Given the description of an element on the screen output the (x, y) to click on. 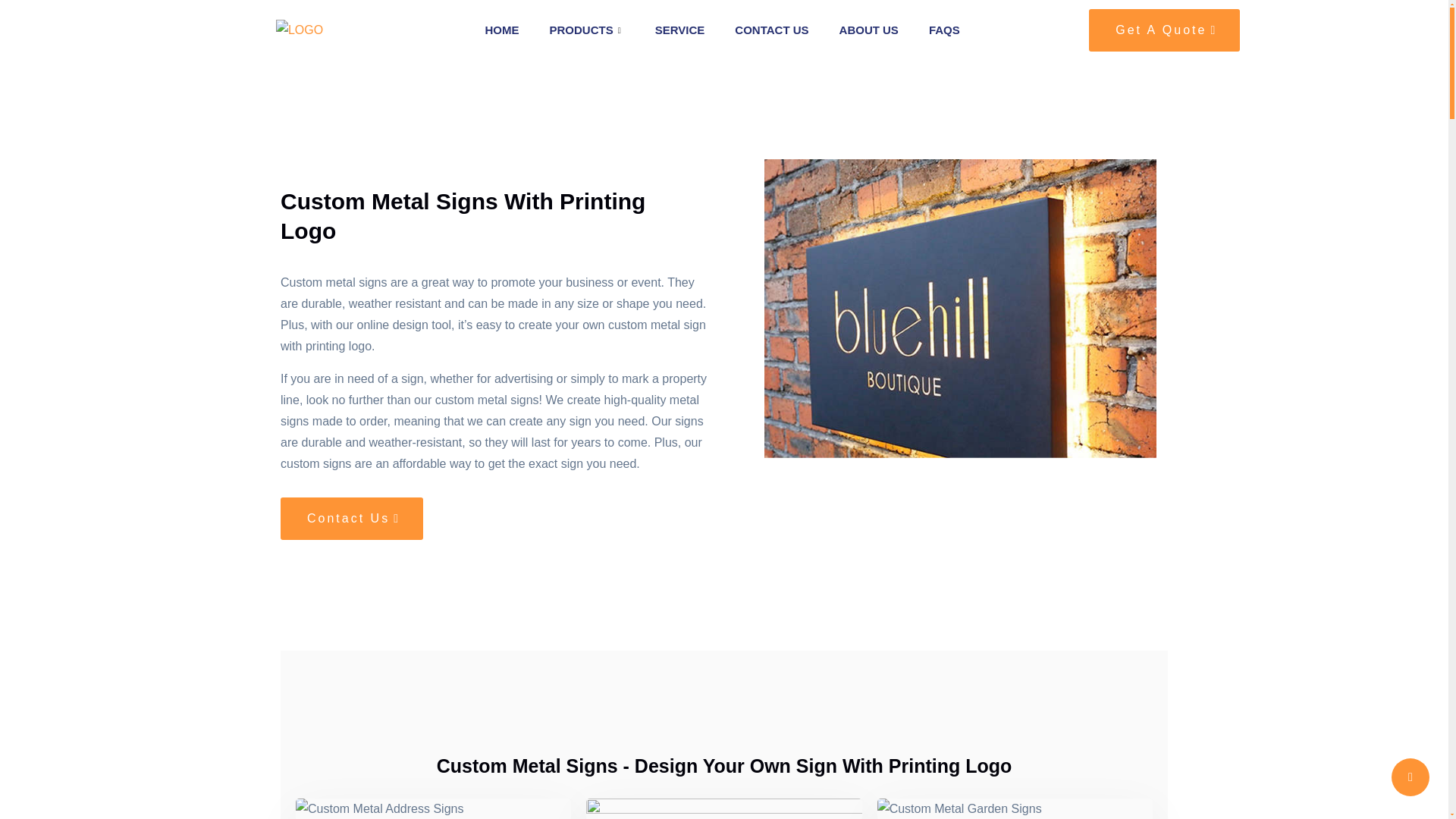
PRODUCTS (587, 30)
HOME (502, 30)
LOGO (299, 29)
